Given the description of an element on the screen output the (x, y) to click on. 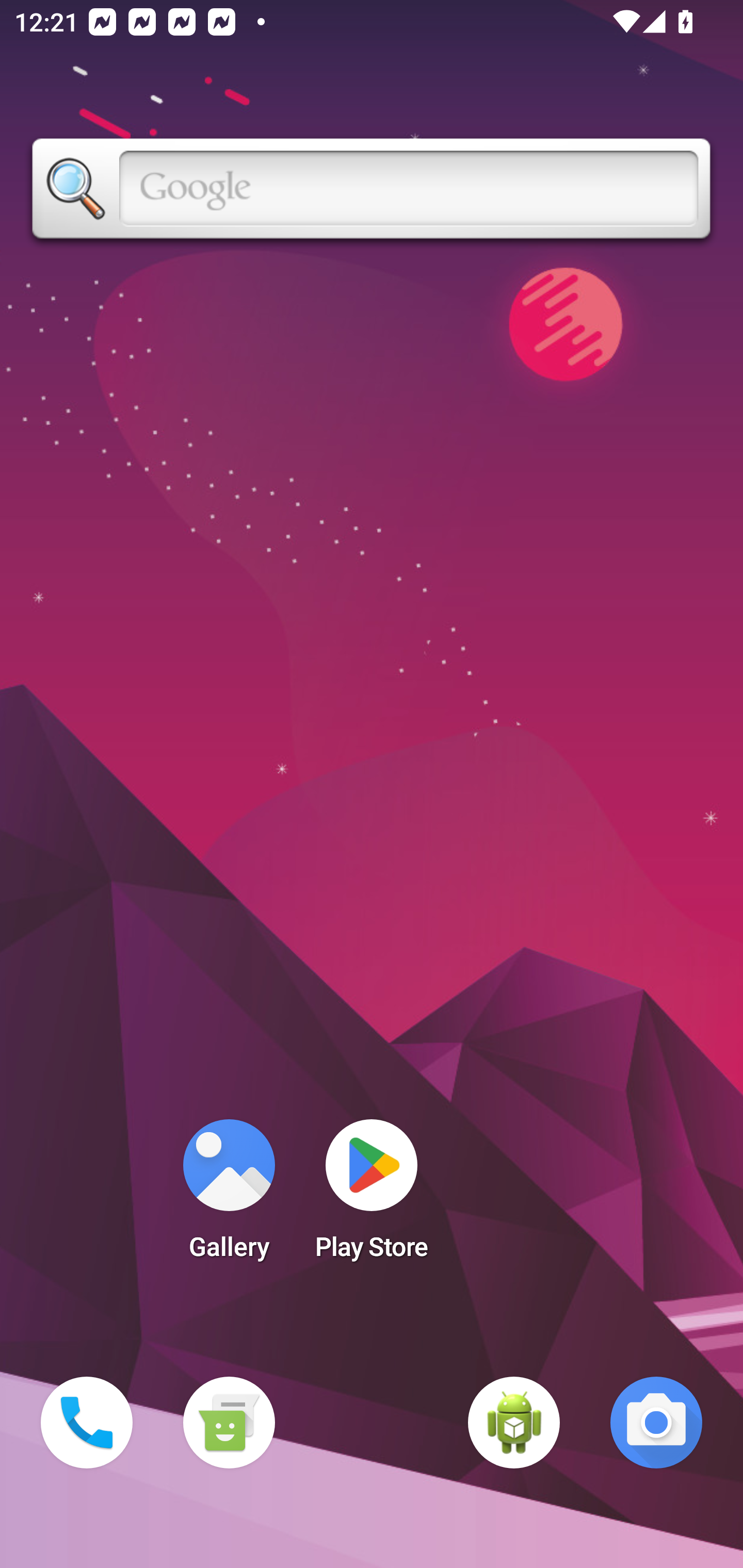
Gallery (228, 1195)
Play Store (371, 1195)
Phone (86, 1422)
Messaging (228, 1422)
WebView Browser Tester (513, 1422)
Camera (656, 1422)
